Given the description of an element on the screen output the (x, y) to click on. 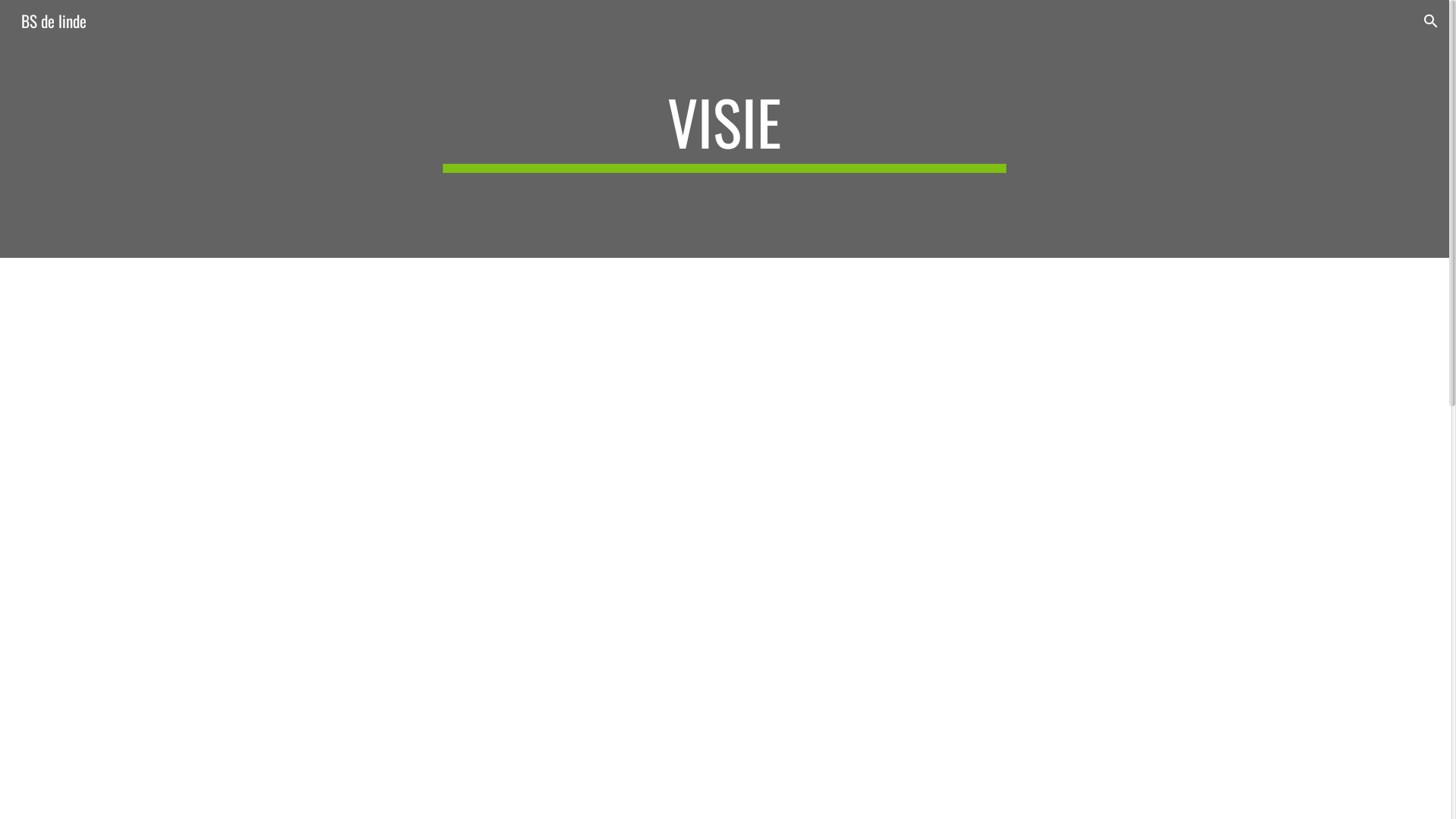
BS de linde Element type: text (53, 18)
